Given the description of an element on the screen output the (x, y) to click on. 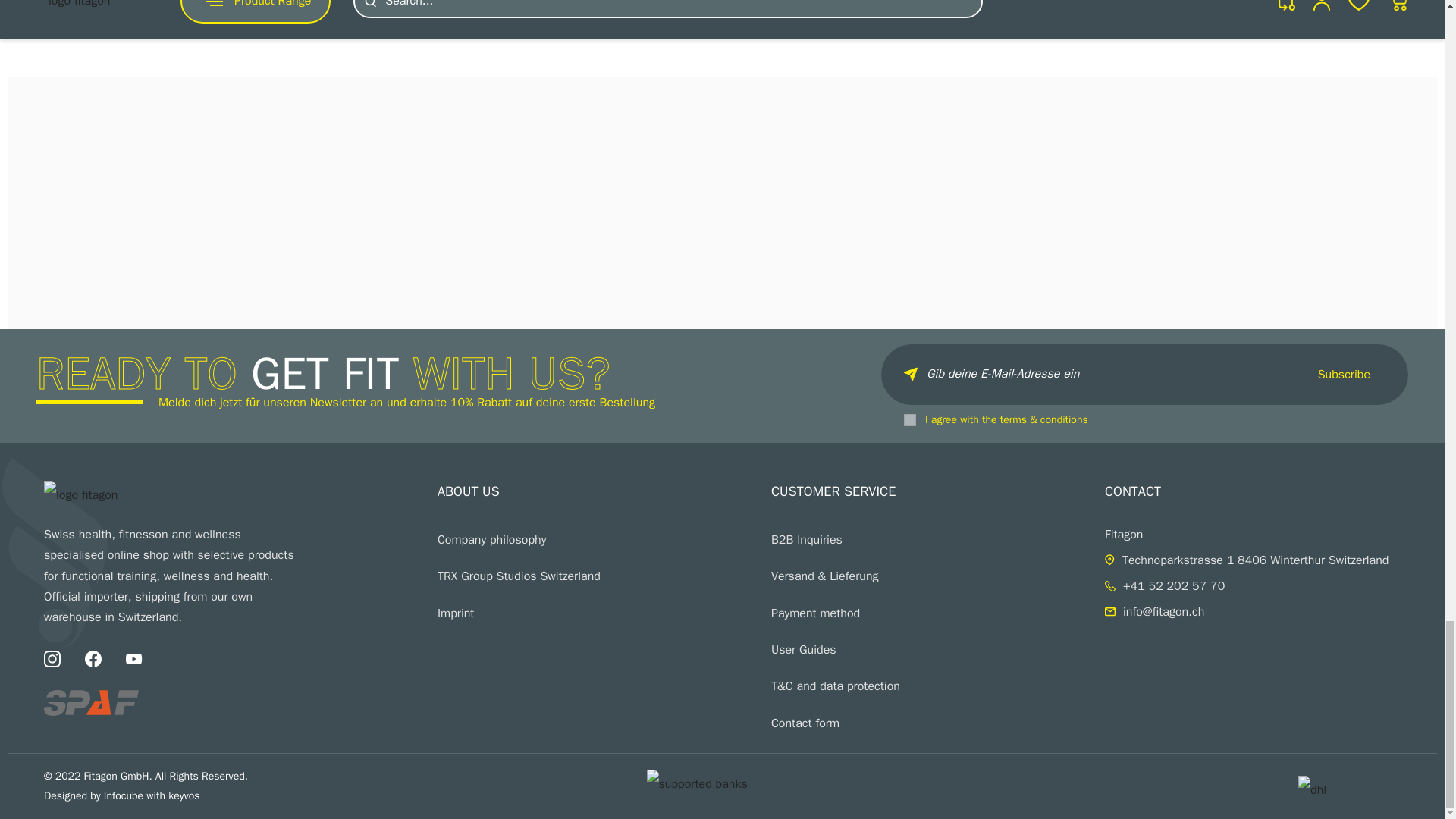
Subscribe (1344, 374)
Subscribe to our newsletter... (1143, 373)
on (909, 419)
